Given the description of an element on the screen output the (x, y) to click on. 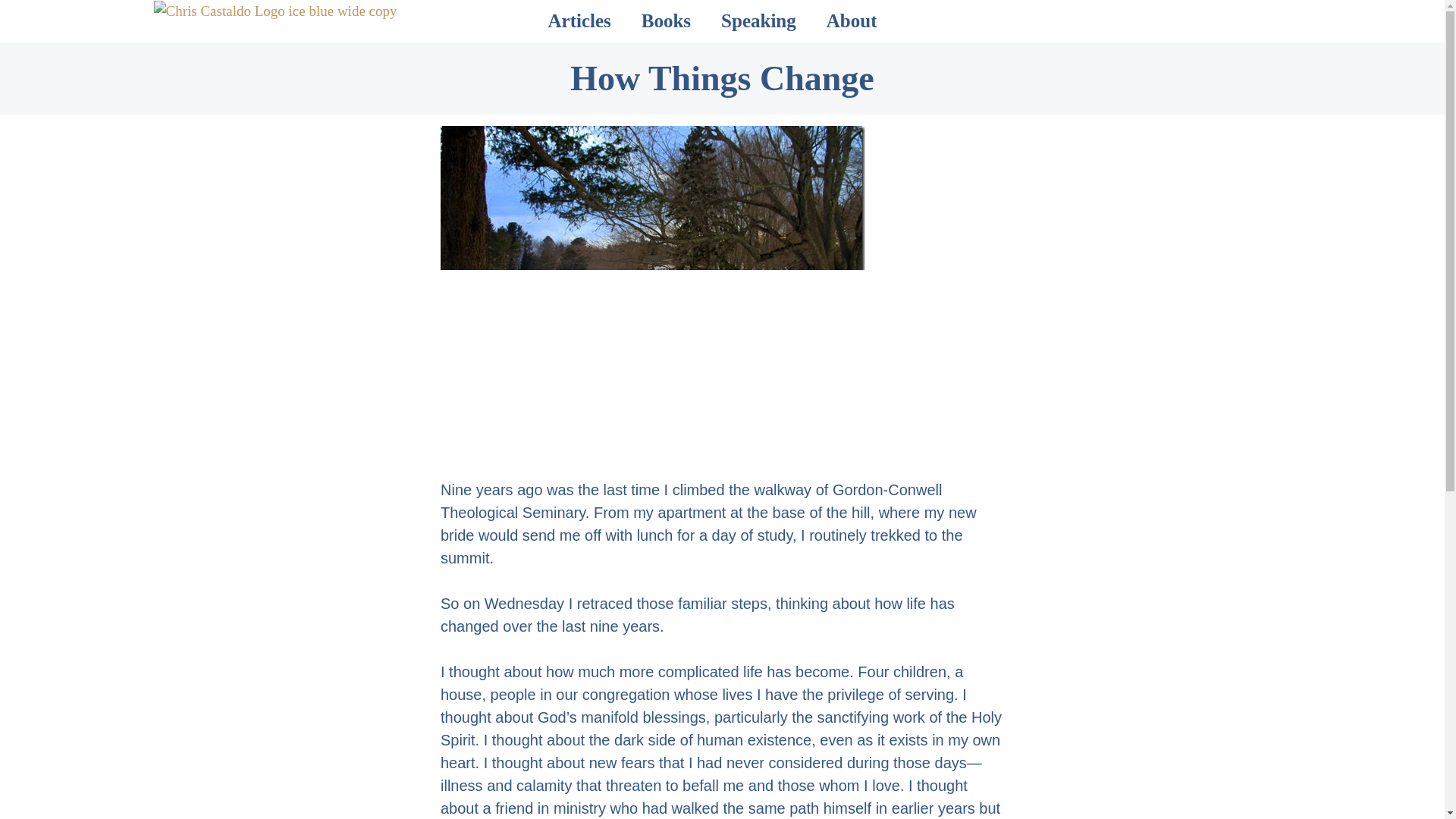
Chris Castaldo Logo ice blue wide copy (274, 11)
Speaking (758, 21)
Articles (579, 21)
About (851, 21)
Books (666, 21)
